Given the description of an element on the screen output the (x, y) to click on. 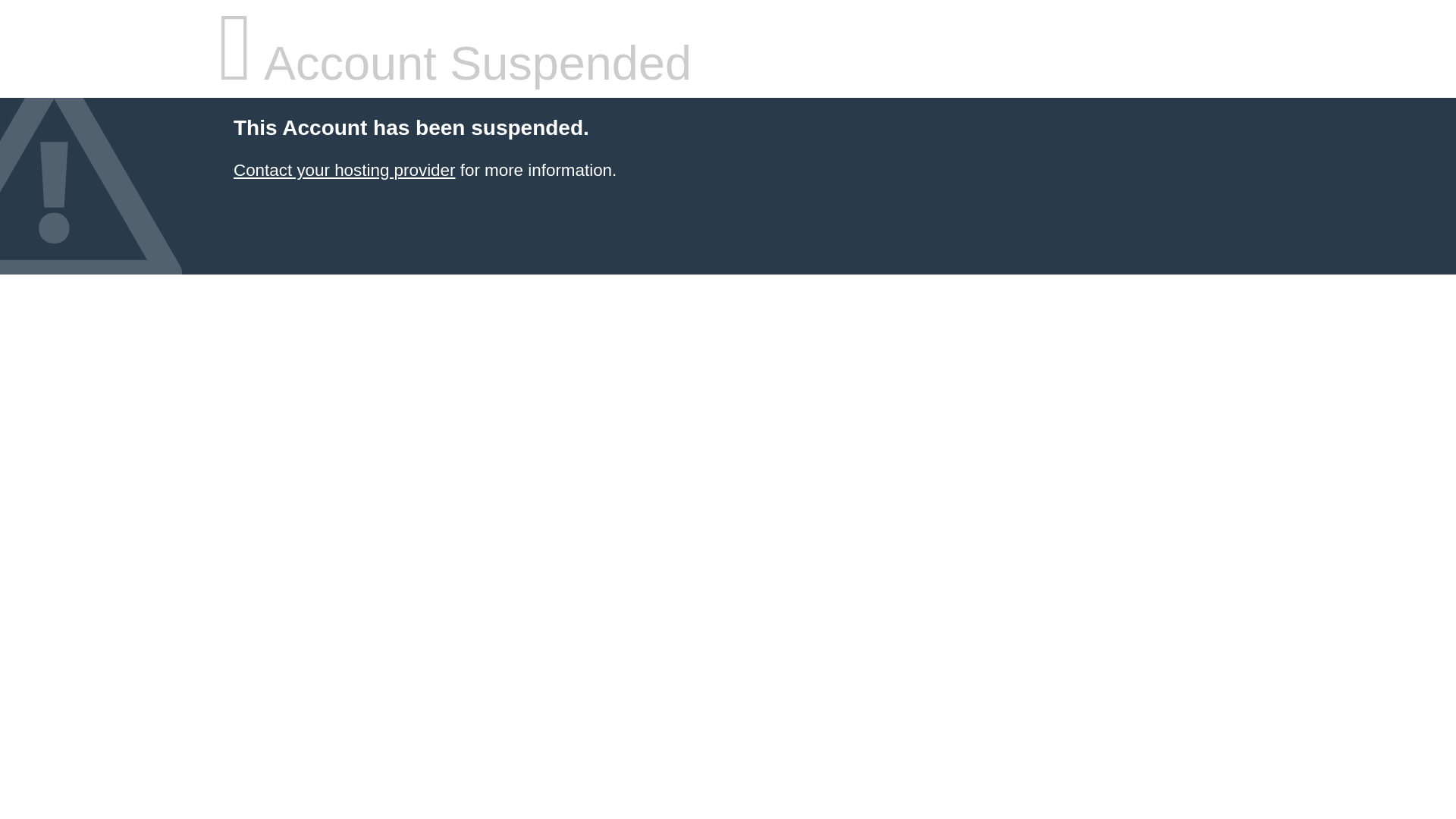
Contact your hosting provider (343, 169)
